Given the description of an element on the screen output the (x, y) to click on. 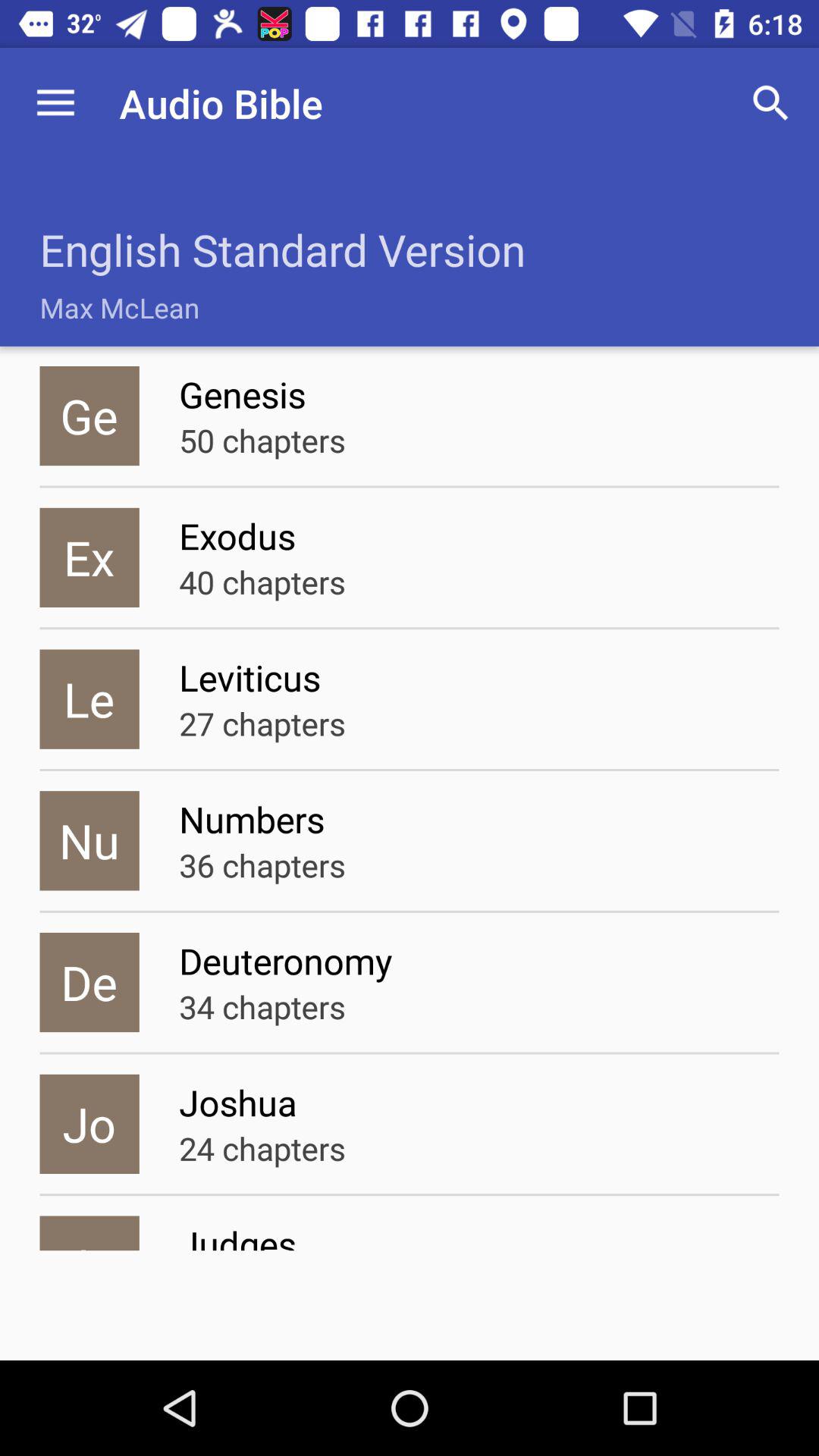
flip to joshua (479, 1102)
